Given the description of an element on the screen output the (x, y) to click on. 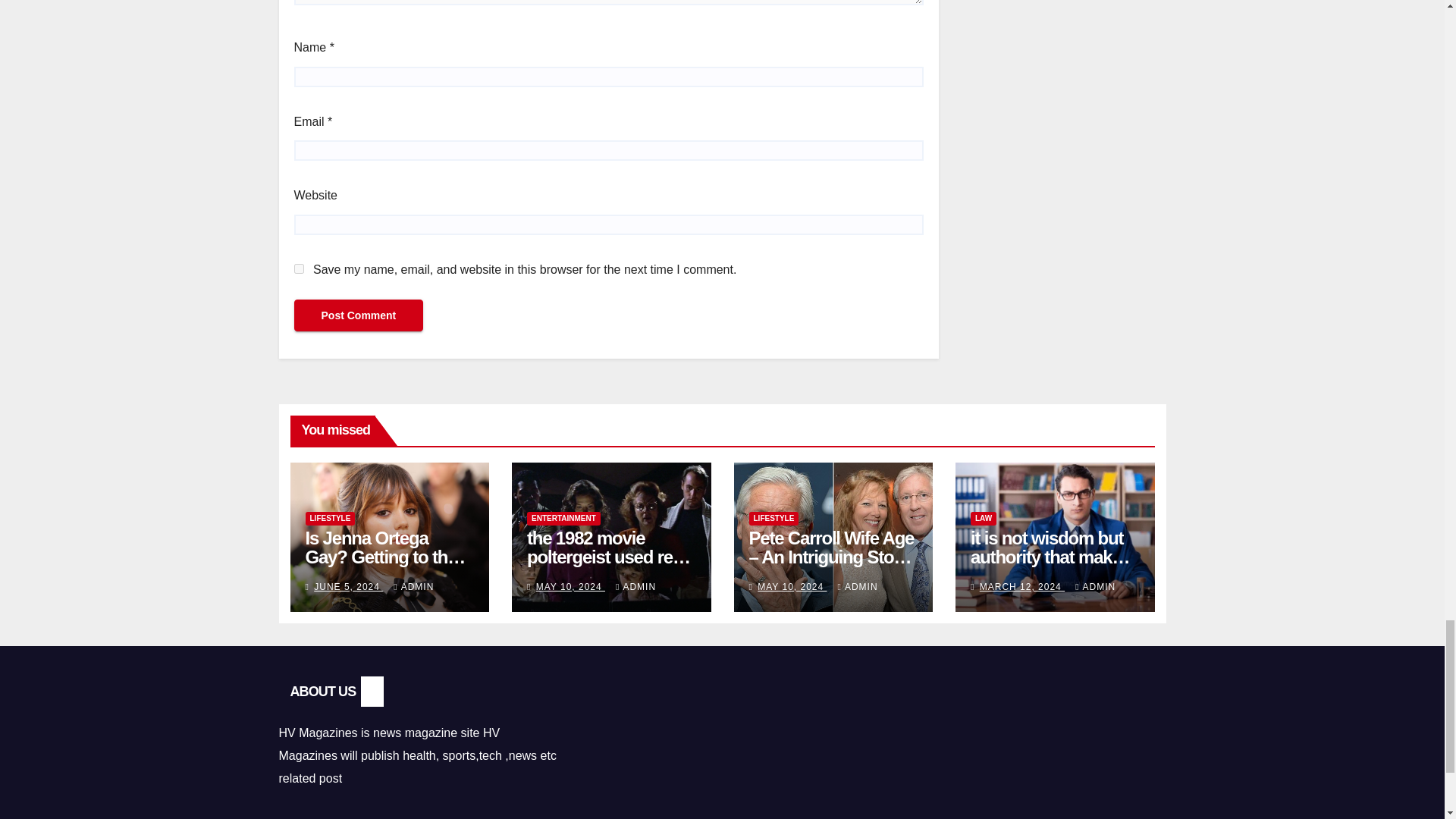
yes (299, 268)
Post Comment (358, 315)
